Given the description of an element on the screen output the (x, y) to click on. 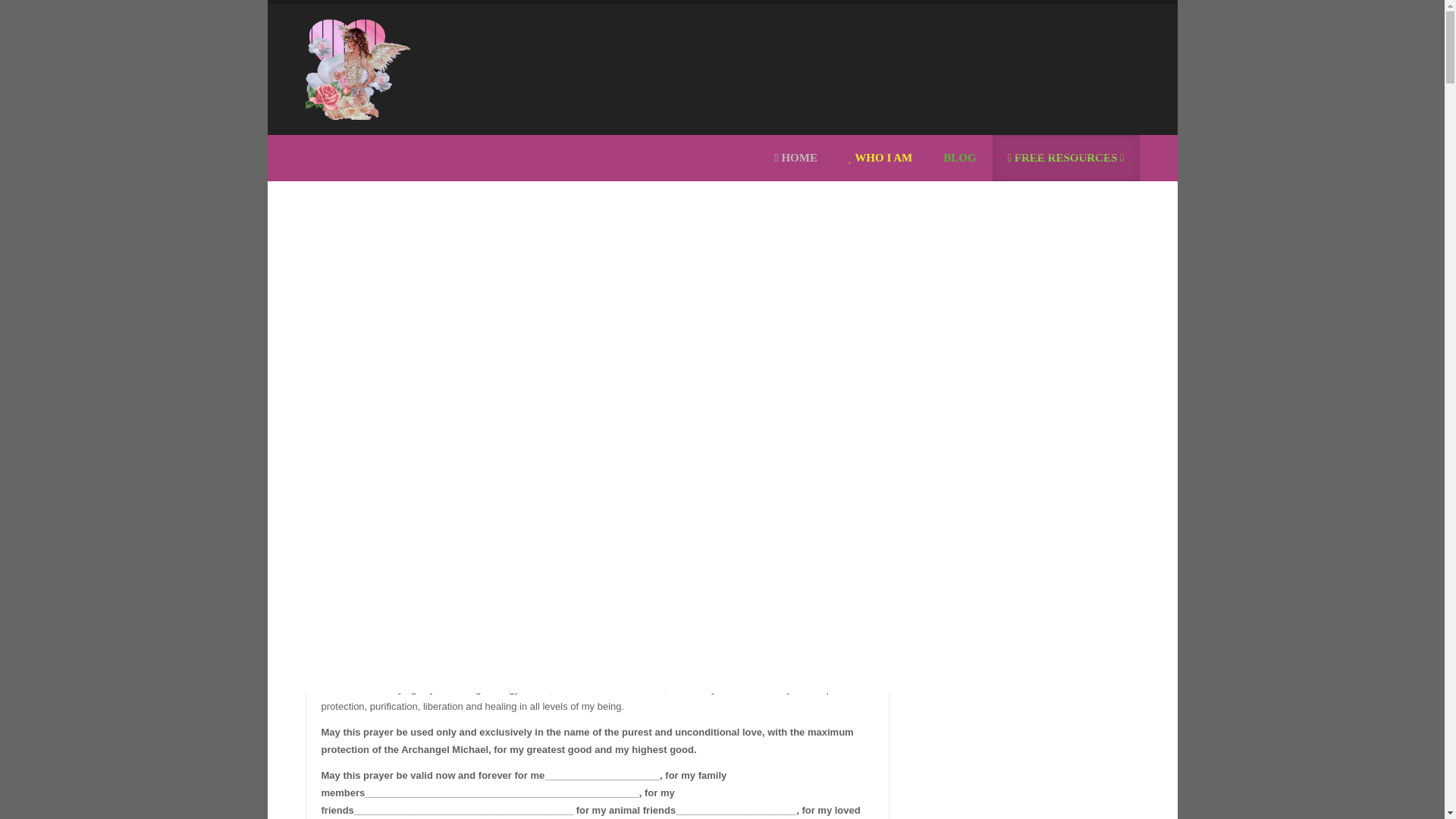
HOME (795, 158)
ARCHANGEL MICHAEL: PROCESS OF LIBERATION (596, 341)
